Given the description of an element on the screen output the (x, y) to click on. 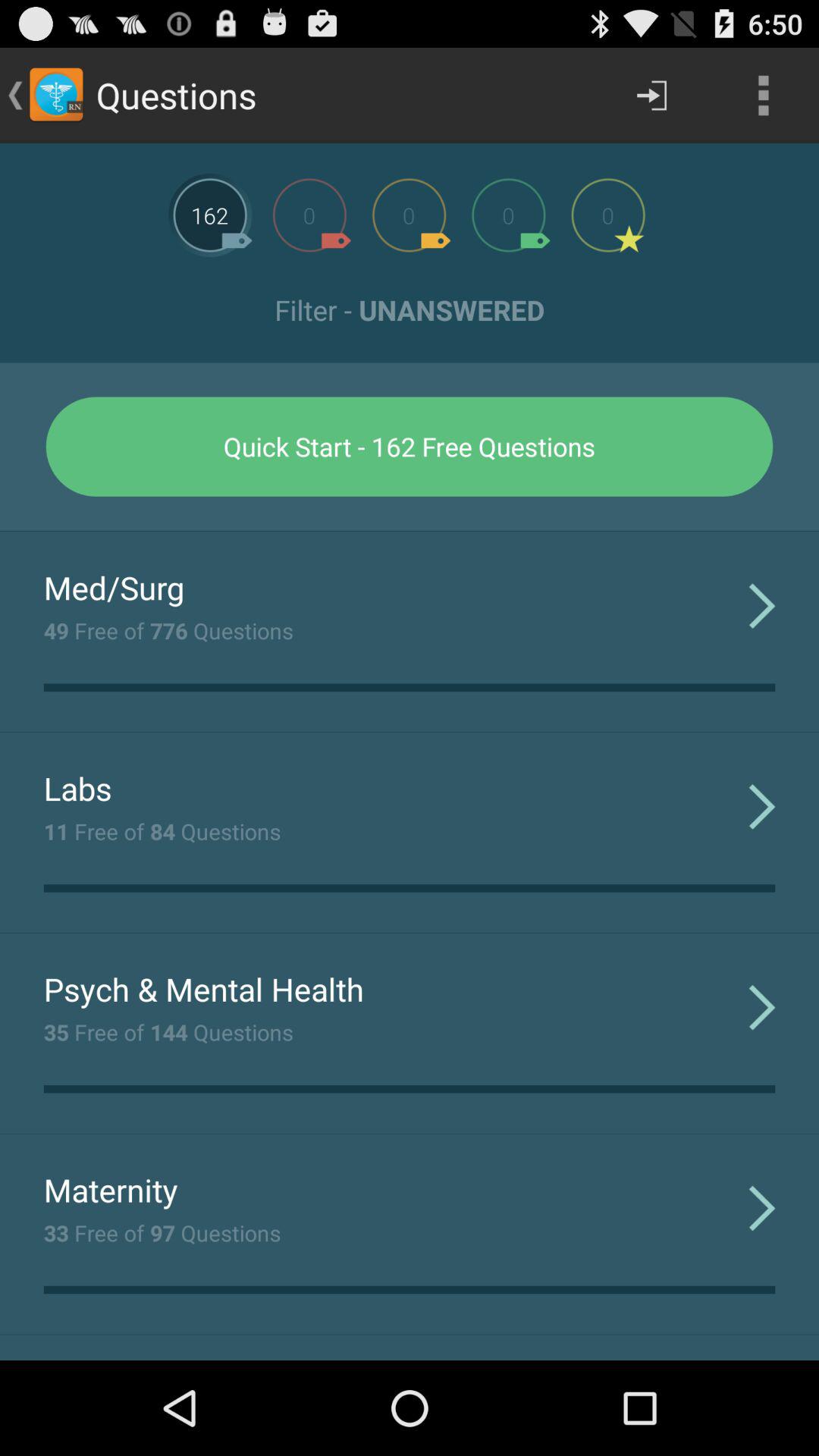
select quick start 162 (409, 446)
